Given the description of an element on the screen output the (x, y) to click on. 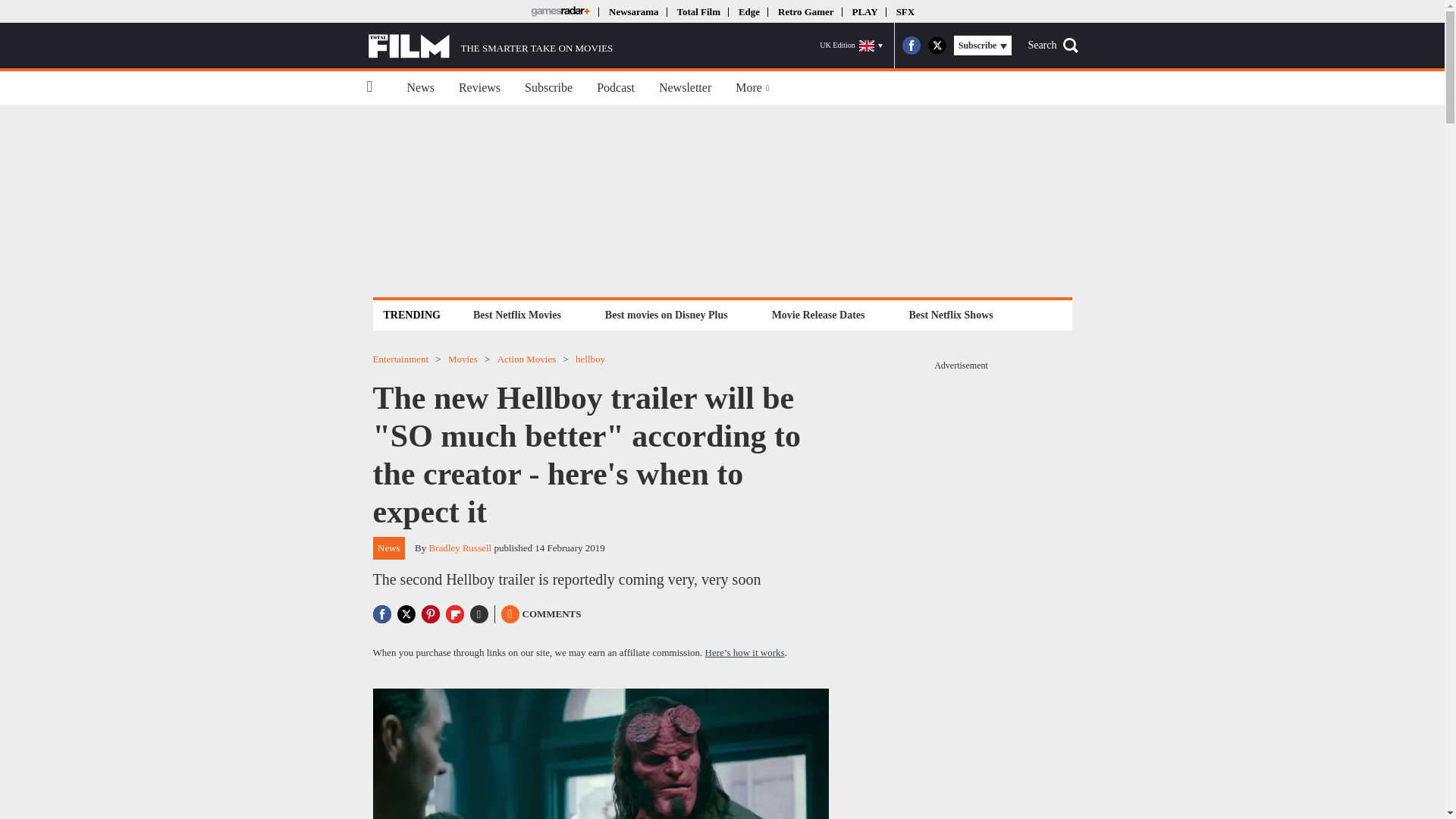
UK Edition (850, 45)
Total Film (698, 11)
THE SMARTER TAKE ON MOVIES (489, 44)
Reviews (479, 87)
Movie Release Dates (818, 314)
Best movies on Disney Plus (666, 314)
Newsarama (633, 11)
PLAY (864, 11)
Newsletter (684, 87)
Edge (749, 11)
